Given the description of an element on the screen output the (x, y) to click on. 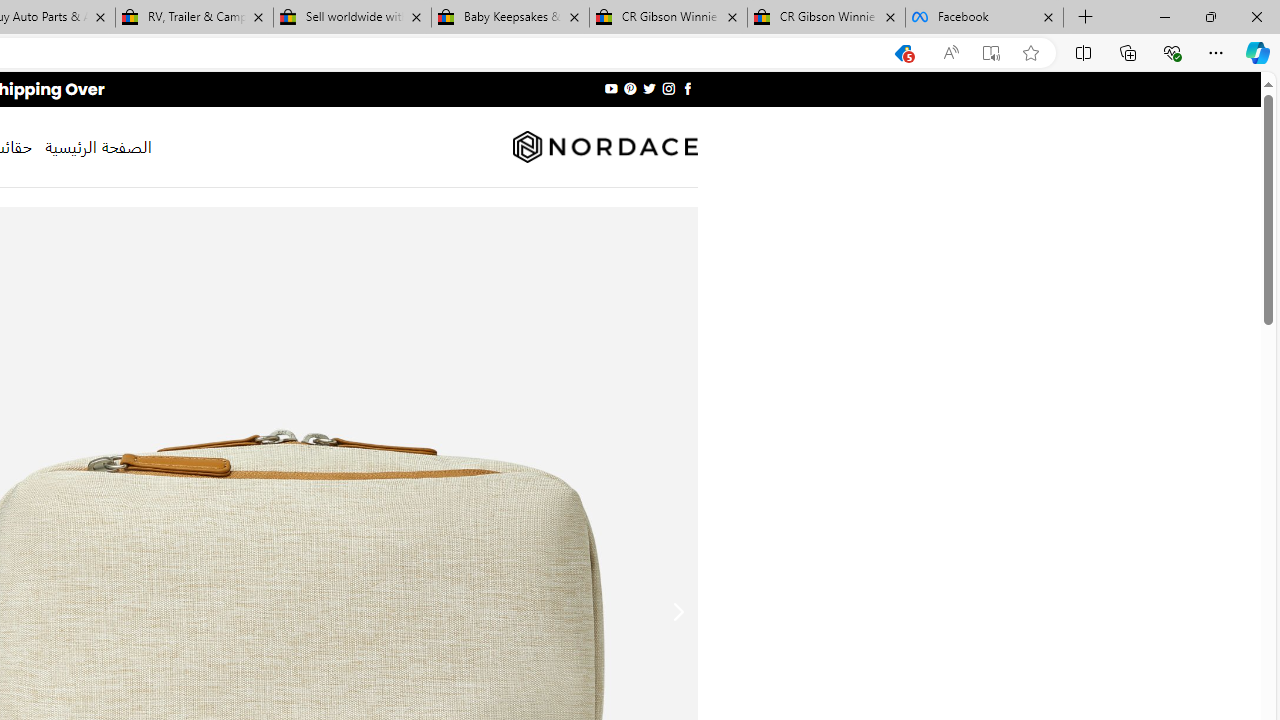
Sell worldwide with eBay (352, 17)
New Tab (1085, 17)
Minimize (1164, 16)
RV, Trailer & Camper Steps & Ladders for sale | eBay (194, 17)
Settings and more (Alt+F) (1215, 52)
Split screen (1083, 52)
Follow on Twitter (648, 88)
Nordace (604, 147)
Restore (1210, 16)
Follow on Pinterest (630, 88)
Copilot (Ctrl+Shift+.) (1258, 52)
